Given the description of an element on the screen output the (x, y) to click on. 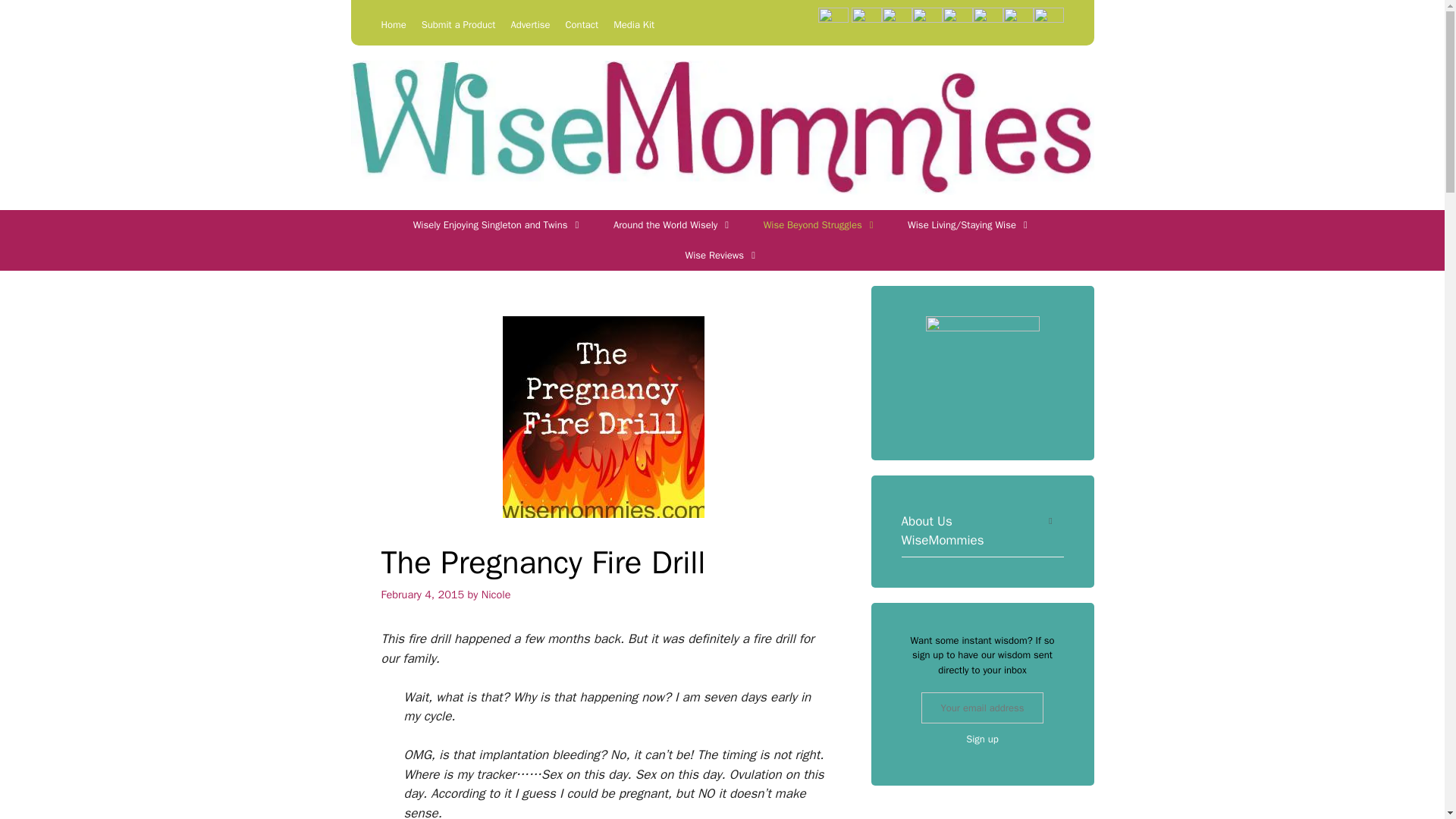
Sign up (982, 739)
Wise Reviews (721, 255)
Around the World Wisely (673, 224)
Contact (582, 24)
Advertise (530, 24)
Wise Beyond Struggles (820, 224)
Nicole (496, 594)
Media Kit (632, 24)
View all posts by Nicole (496, 594)
Submit a Product (459, 24)
